Given the description of an element on the screen output the (x, y) to click on. 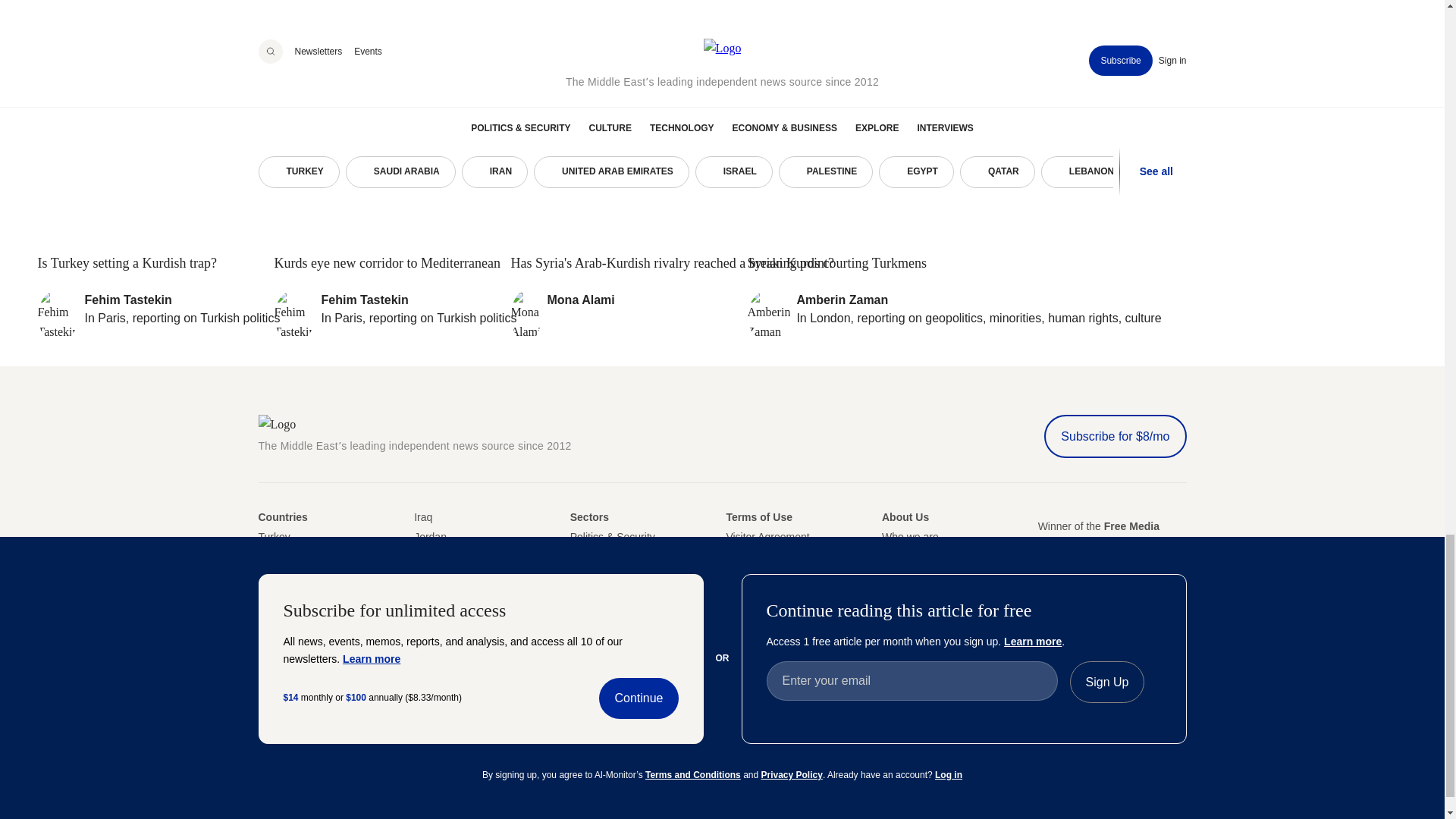
United Arab Amirates (268, 594)
